Given the description of an element on the screen output the (x, y) to click on. 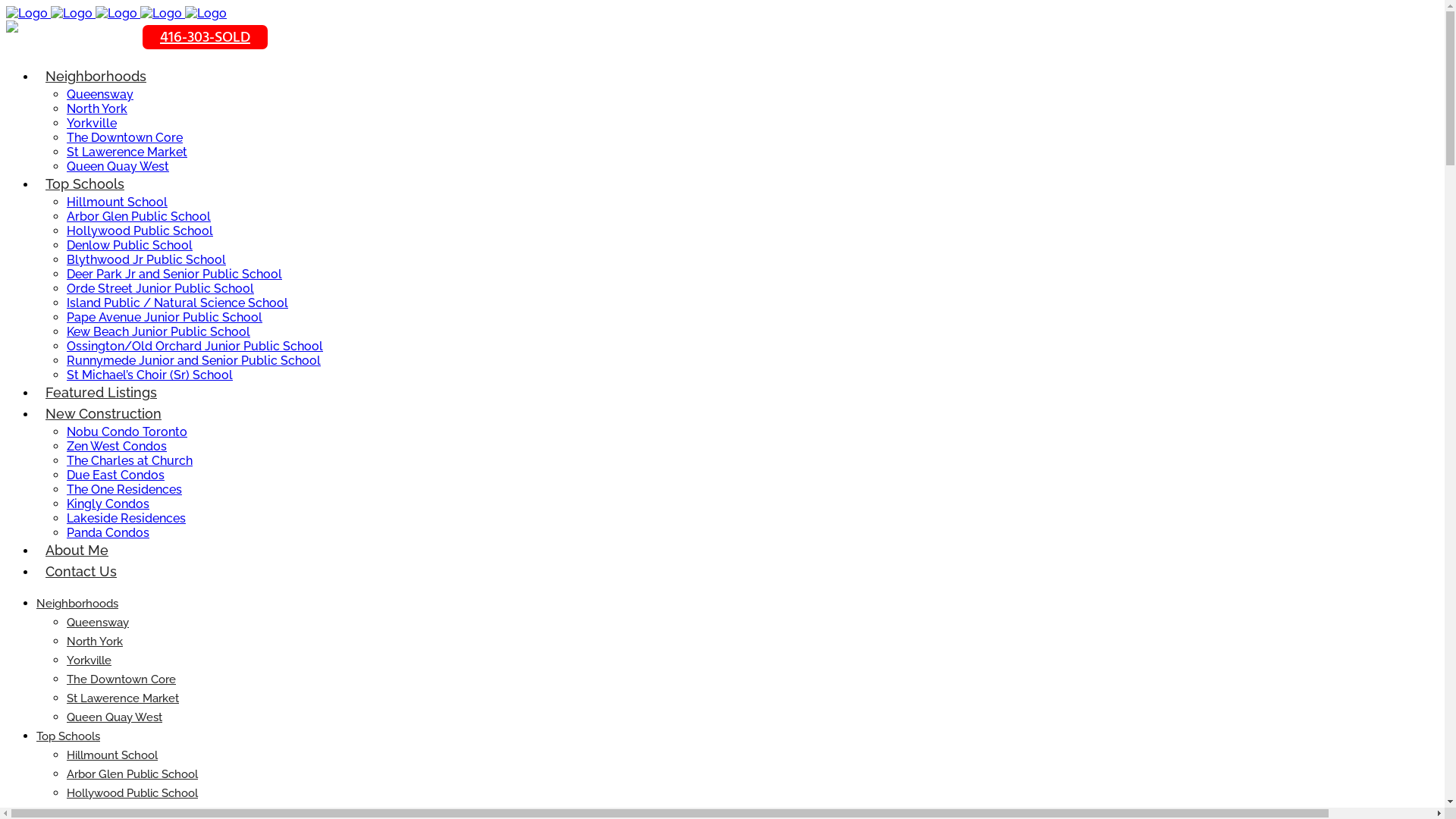
Yorkville Element type: text (91, 123)
Featured Listings Element type: text (101, 392)
Arbor Glen Public School Element type: text (138, 216)
North York Element type: text (94, 641)
Top Schools Element type: text (84, 183)
About Me Element type: text (76, 550)
Blythwood Jr Public School Element type: text (145, 259)
Pape Avenue Junior Public School Element type: text (164, 317)
Ossington/Old Orchard Junior Public School Element type: text (194, 345)
Zen West Condos Element type: text (116, 446)
Contact Us Element type: text (80, 571)
Neighborhoods Element type: text (77, 603)
Nobu Condo Toronto Element type: text (126, 431)
Hollywood Public School Element type: text (139, 230)
The One Residences Element type: text (124, 489)
Deer Park Jr and Senior Public School Element type: text (174, 273)
Orde Street Junior Public School Element type: text (160, 288)
St Lawerence Market Element type: text (126, 151)
New Construction Element type: text (103, 413)
416-303-SOLD Element type: text (204, 37)
Queen Quay West Element type: text (117, 166)
Yorkville Element type: text (88, 660)
Lakeside Residences Element type: text (125, 518)
St Lawerence Market Element type: text (122, 698)
Queen Quay West Element type: text (114, 717)
North York Element type: text (96, 108)
Hollywood Public School Element type: text (131, 793)
Island Public / Natural Science School Element type: text (177, 302)
Neighborhoods Element type: text (95, 76)
Top Schools Element type: text (68, 736)
The Downtown Core Element type: text (124, 137)
Due East Condos Element type: text (115, 474)
Panda Condos Element type: text (107, 532)
Runnymede Junior and Senior Public School Element type: text (193, 360)
Hillmount School Element type: text (111, 755)
Arbor Glen Public School Element type: text (131, 774)
Denlow Public School Element type: text (129, 245)
Kingly Condos Element type: text (107, 503)
Queensway Element type: text (99, 94)
The Charles at Church Element type: text (129, 460)
Queensway Element type: text (97, 622)
Hillmount School Element type: text (116, 201)
Kew Beach Junior Public School Element type: text (158, 331)
The Downtown Core Element type: text (120, 679)
